Given the description of an element on the screen output the (x, y) to click on. 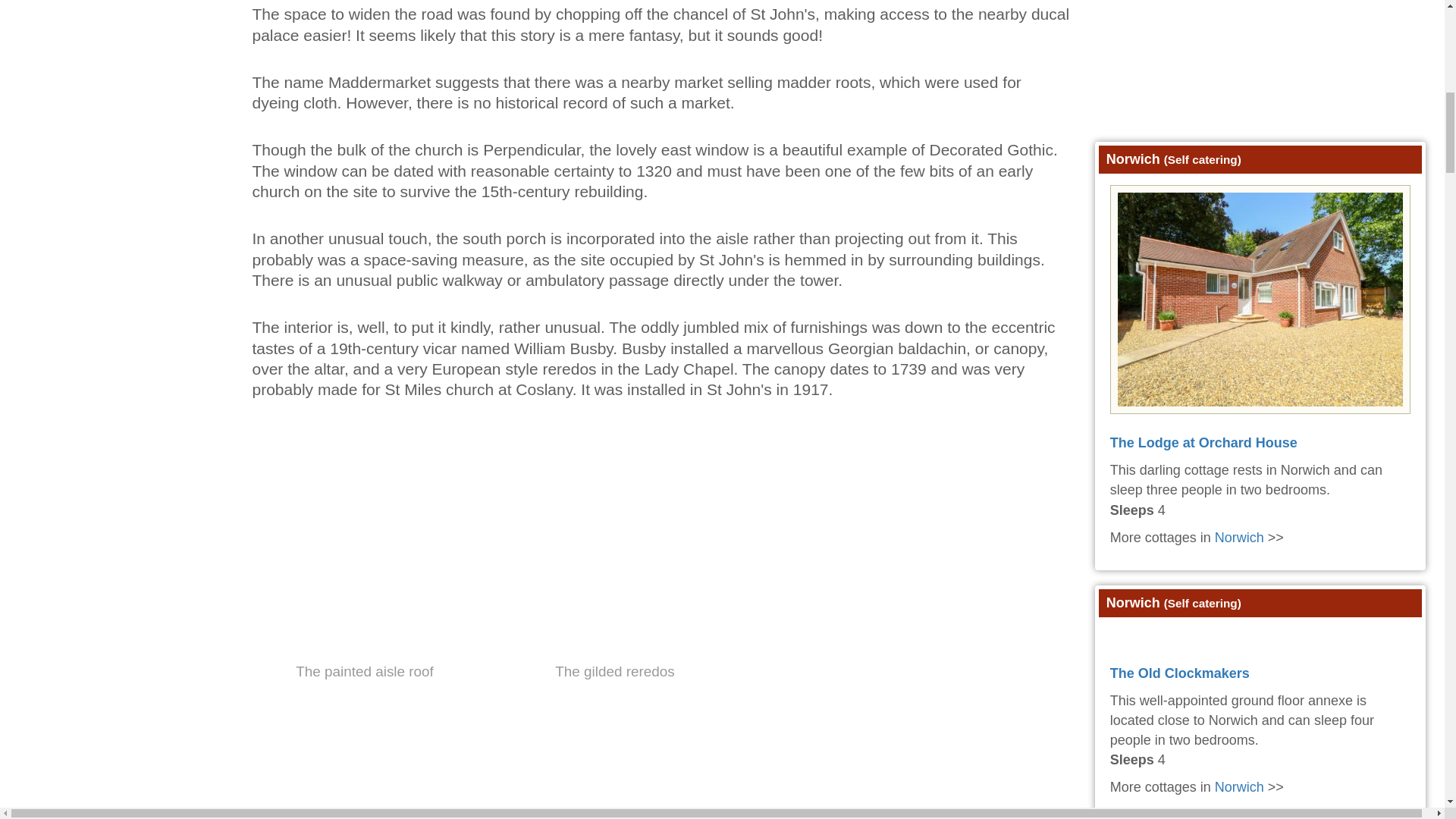
Advertisement (1263, 67)
